Given the description of an element on the screen output the (x, y) to click on. 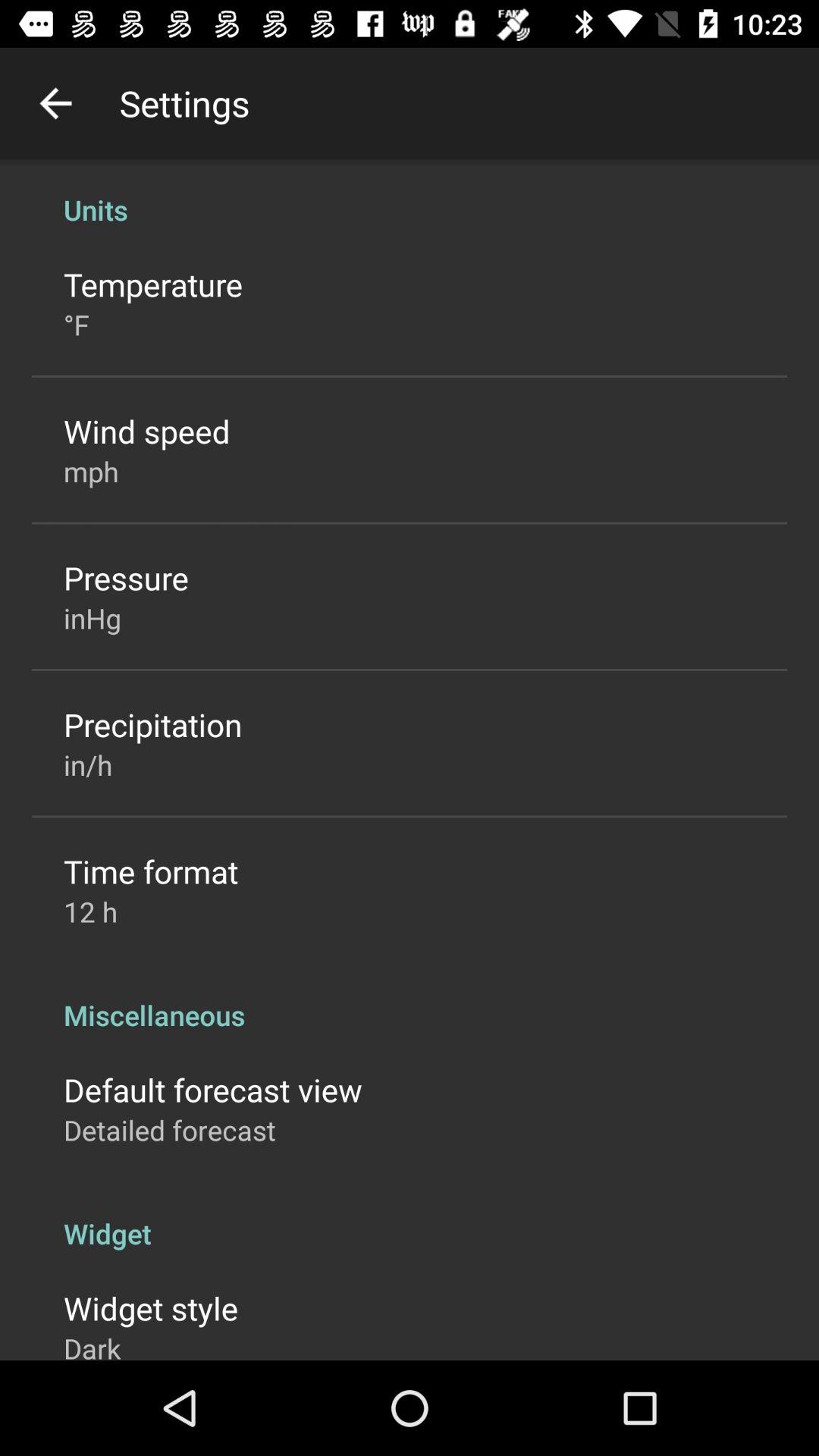
turn off time format (150, 870)
